Given the description of an element on the screen output the (x, y) to click on. 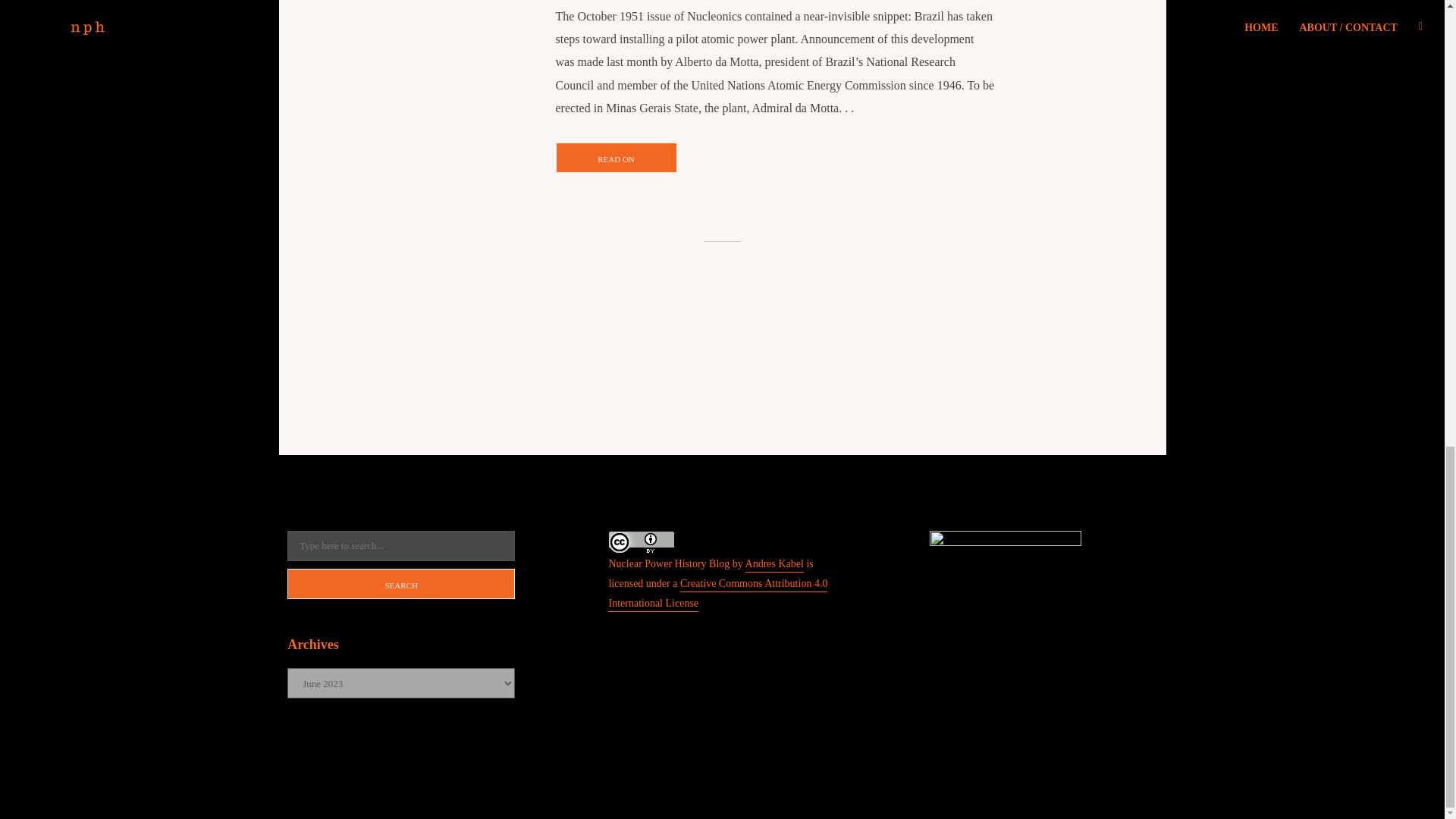
READ ON (615, 157)
Creative Commons Attribution 4.0 International License (717, 594)
SEARCH (400, 583)
Andres Kabel (774, 564)
